Given the description of an element on the screen output the (x, y) to click on. 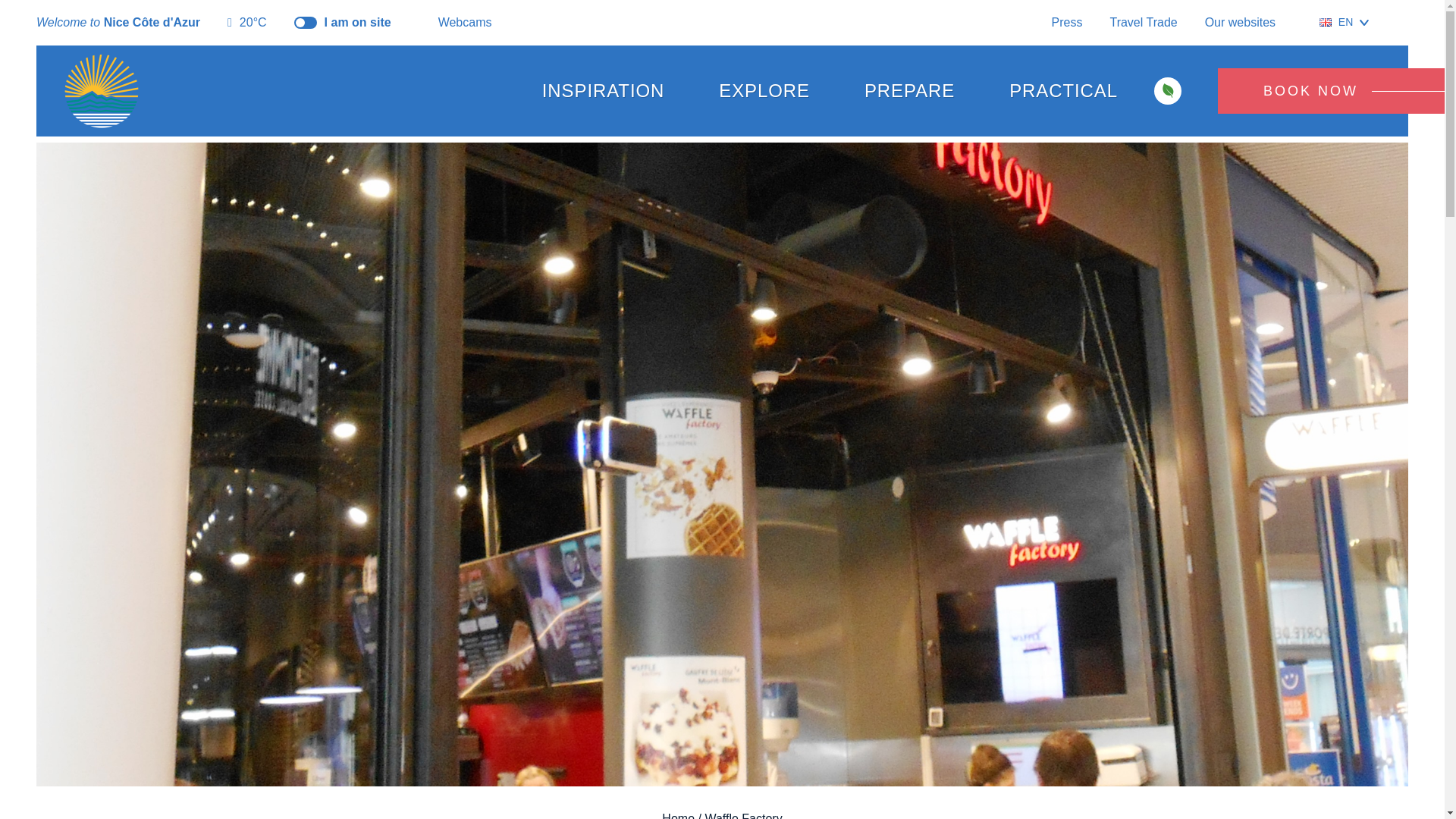
EN (1343, 22)
I am on site (342, 22)
Press (1067, 21)
Travel Trade (1142, 21)
Webcams (454, 22)
Search (1401, 22)
Our websites (1248, 22)
INSPIRATION (603, 90)
